Given the description of an element on the screen output the (x, y) to click on. 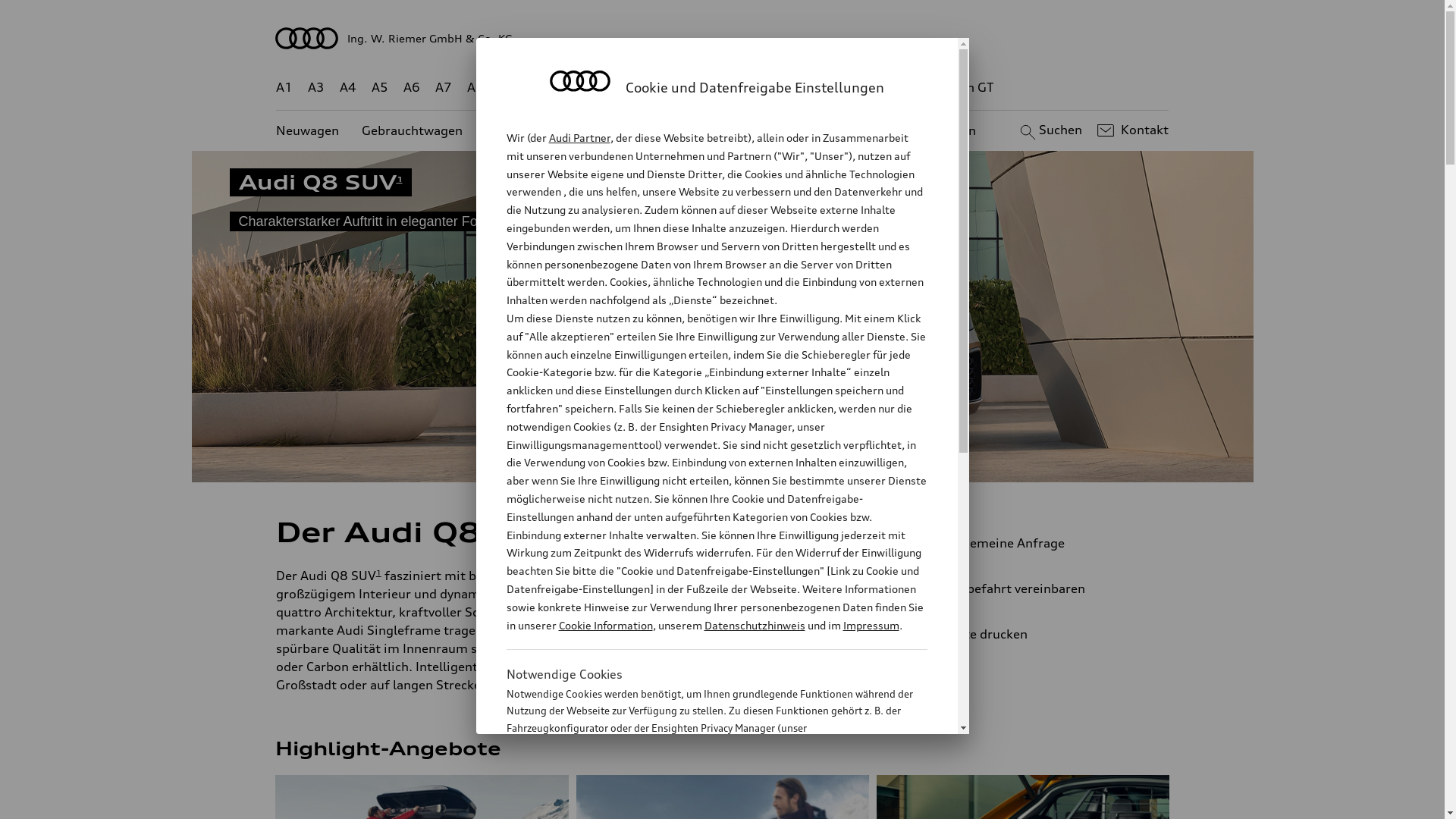
1 Element type: text (563, 528)
A4 Element type: text (347, 87)
Gebrauchtwagen Element type: text (411, 130)
g-tron Element type: text (903, 87)
Ing. W. Riemer GmbH & Co. KG Element type: text (722, 38)
A3 Element type: text (315, 87)
Q7 Element type: text (678, 87)
A6 Element type: text (411, 87)
Seite drucken Element type: text (1044, 633)
A5 Element type: text (379, 87)
1 Element type: text (398, 178)
Kontakt Element type: text (1130, 130)
A7 Element type: text (443, 87)
Datenschutzhinweis Element type: text (753, 624)
Cookie Information Element type: text (700, 802)
Q8 e-tron Element type: text (763, 87)
e-tron GT Element type: text (965, 87)
Q5 Element type: text (645, 87)
Allgemeine Anfrage Element type: text (1038, 542)
TT Element type: text (814, 87)
Q2 Element type: text (507, 87)
Q4 e-tron Element type: text (592, 87)
Audi Partner Element type: text (579, 137)
RS Element type: text (861, 87)
Impressum Element type: text (871, 624)
Suchen Element type: text (1049, 130)
Q3 Element type: text (540, 87)
Kundenservice Element type: text (730, 130)
A8 Element type: text (475, 87)
1 Element type: text (378, 572)
Probefahrt vereinbaren Element type: text (1038, 588)
Angebote Element type: text (636, 130)
Q8 Element type: text (710, 87)
Cookie Information Element type: text (605, 624)
A1 Element type: text (284, 87)
Neuwagen Element type: text (307, 130)
